Given the description of an element on the screen output the (x, y) to click on. 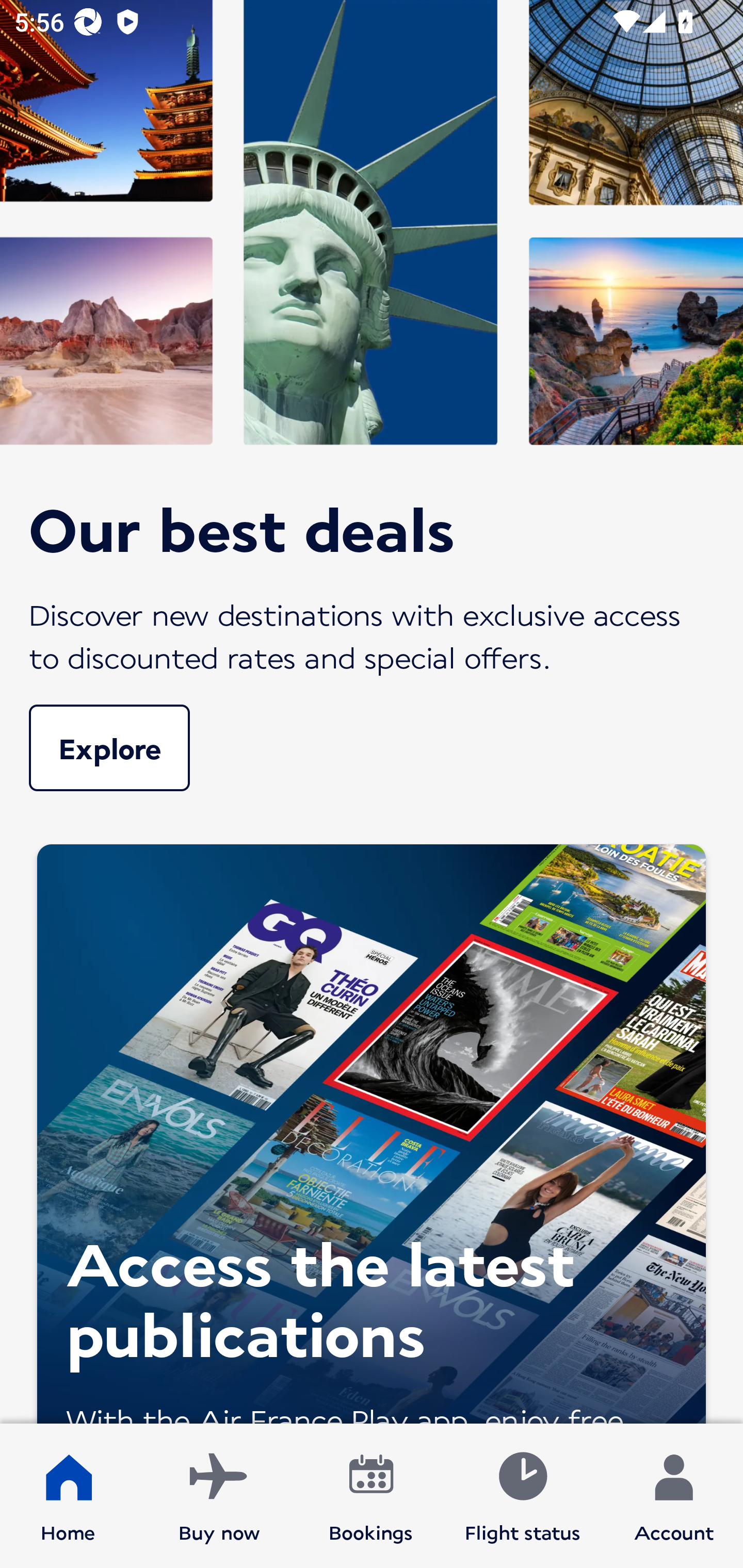
Buy now (219, 1495)
Bookings (370, 1495)
Flight status (522, 1495)
Account (674, 1495)
